Given the description of an element on the screen output the (x, y) to click on. 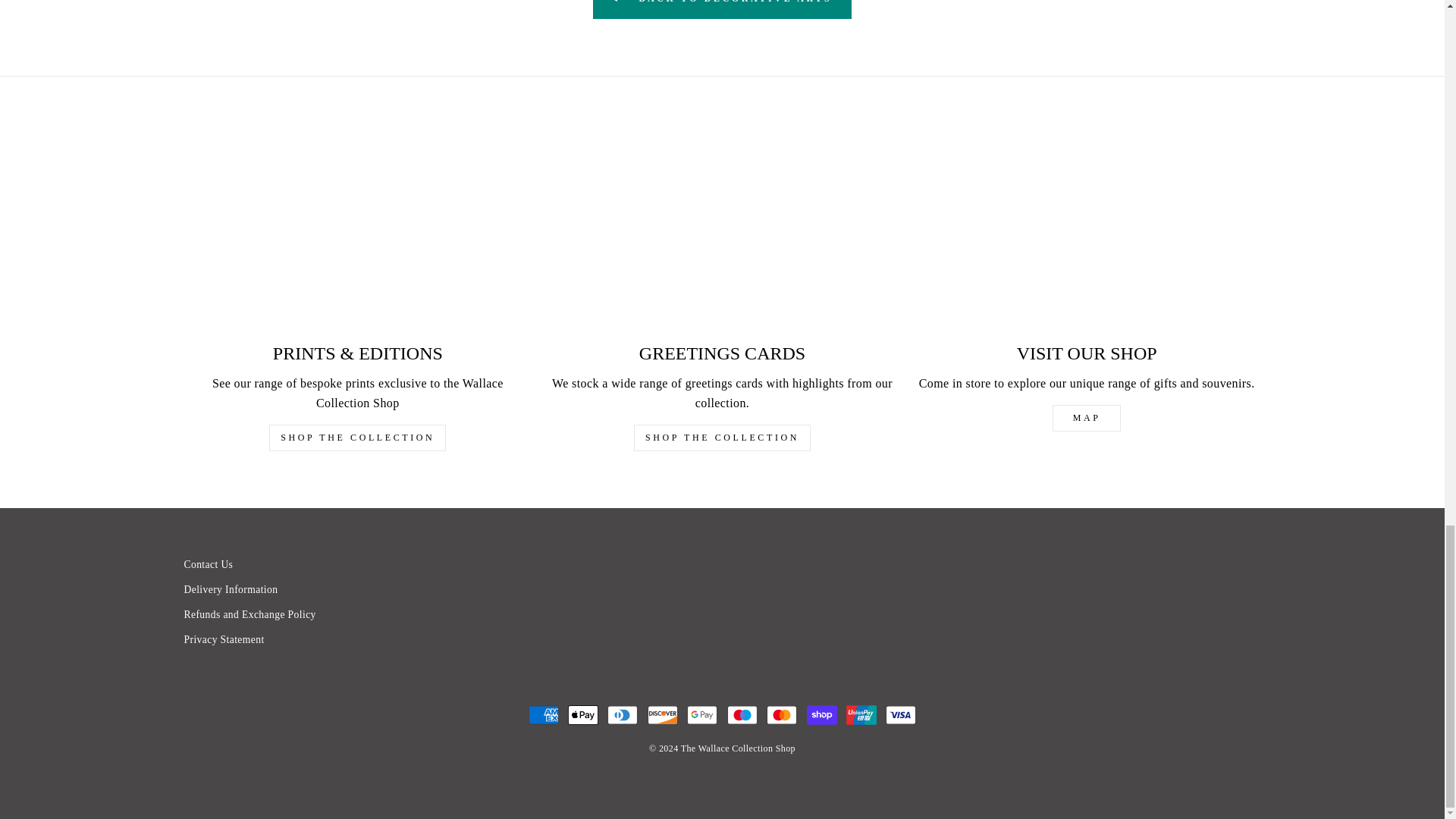
Apple Pay (582, 715)
Shop Pay (821, 715)
Maestro (741, 715)
American Express (543, 715)
Mastercard (781, 715)
Diners Club (622, 715)
Union Pay (860, 715)
Google Pay (702, 715)
Visa (900, 715)
Discover (662, 715)
